Given the description of an element on the screen output the (x, y) to click on. 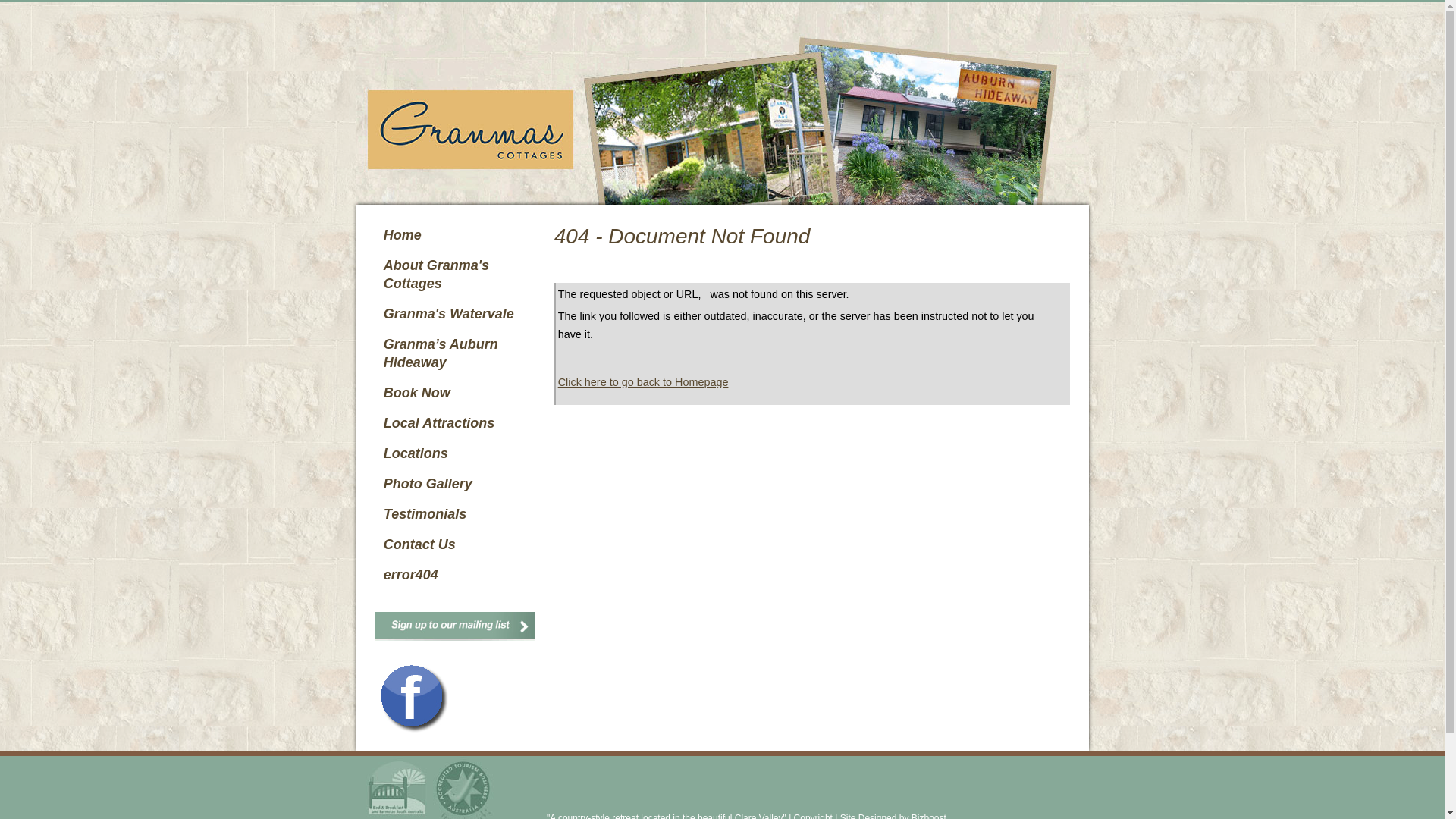
Book Now Element type: text (458, 392)
Click here to go back to Homepage Element type: text (643, 382)
Photo Gallery Element type: text (458, 483)
Locations Element type: text (458, 453)
error404 Element type: text (458, 574)
Local Attractions Element type: text (458, 422)
Contact Us Element type: text (458, 544)
About Granma's Cottages Element type: text (458, 274)
Granma's Watervale Element type: text (458, 313)
Testimonials Element type: text (458, 513)
Home Element type: text (458, 234)
